Given the description of an element on the screen output the (x, y) to click on. 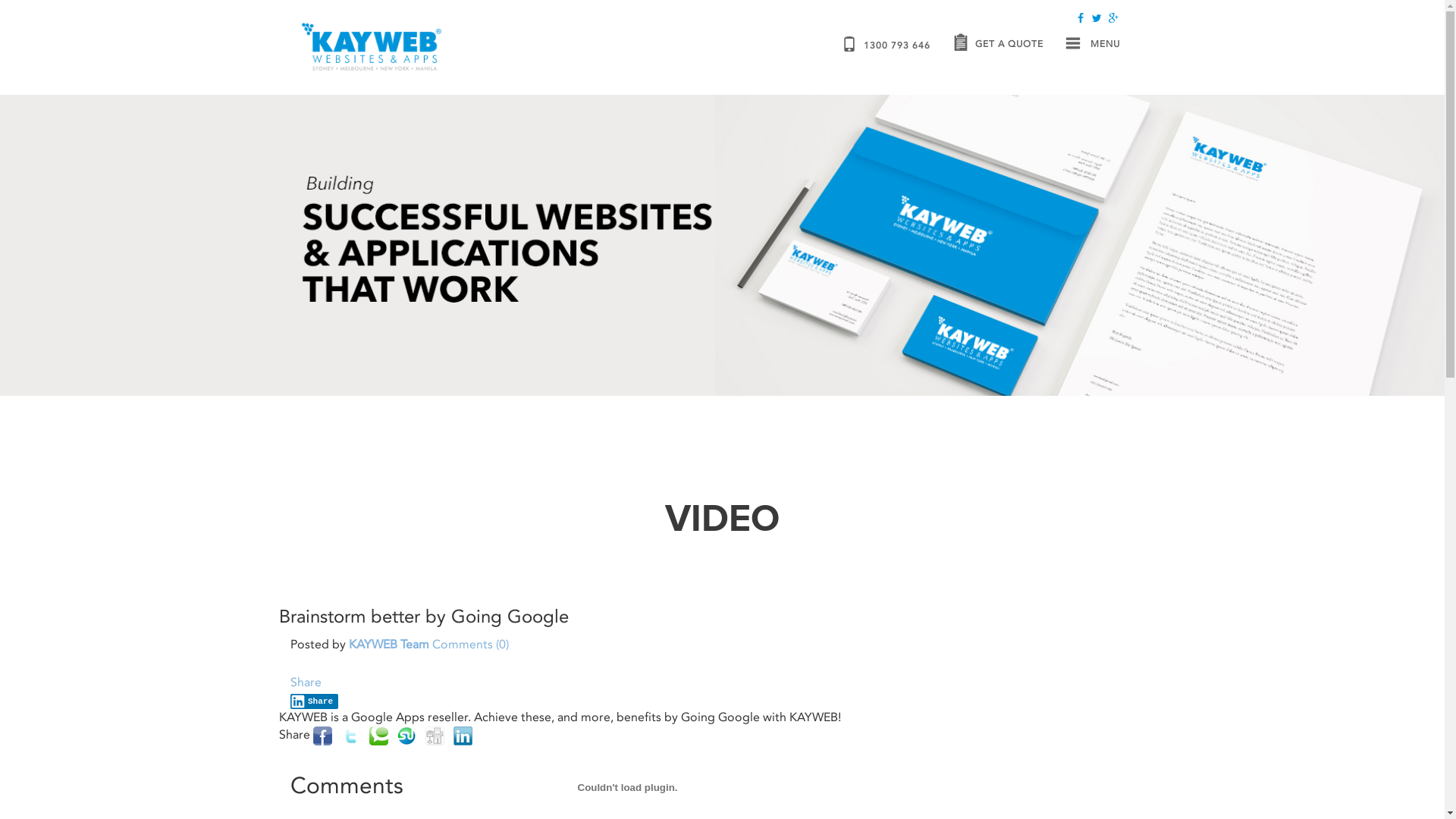
Share Element type: text (313, 701)
KAYWEB Team Element type: text (388, 644)
Facebook Element type: hover (321, 734)
GET A QUOTE Element type: text (1009, 46)
Digg Element type: hover (433, 735)
Twitter Element type: hover (350, 734)
Share Element type: text (304, 681)
1300 793 646 Element type: text (897, 43)
Comments (0) Element type: text (470, 644)
Facebook Element type: hover (321, 735)
Stumble Upon Element type: hover (406, 735)
Twitter Element type: hover (350, 735)
digg Element type: hover (433, 734)
Technorati Element type: hover (377, 734)
MENU Element type: text (1121, 46)
Stumble Upon Element type: hover (406, 734)
Technorati Element type: hover (377, 735)
